Given the description of an element on the screen output the (x, y) to click on. 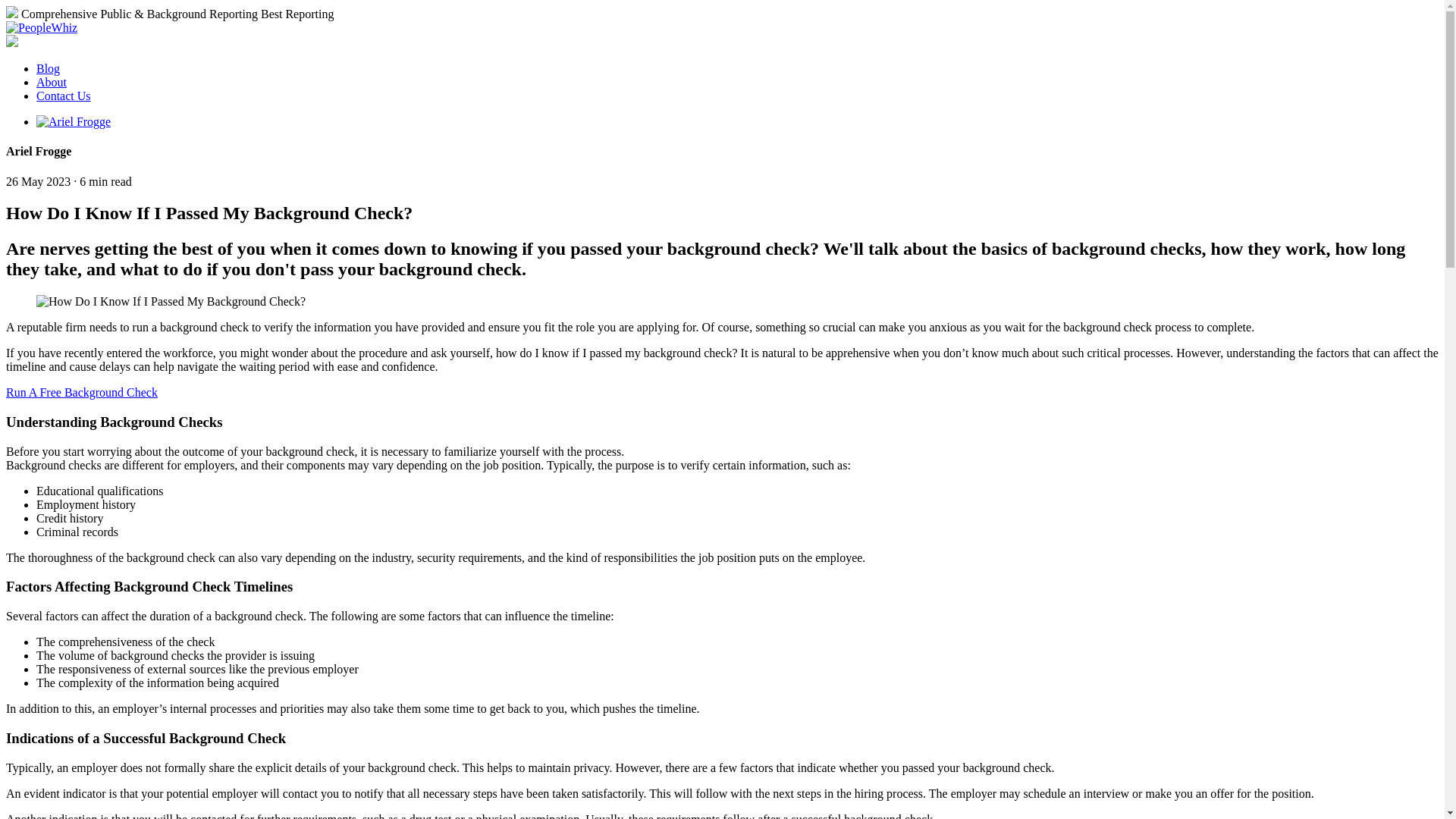
About (51, 82)
Contact Us (63, 95)
Blog (47, 68)
Run A Free Background Check (81, 391)
